Given the description of an element on the screen output the (x, y) to click on. 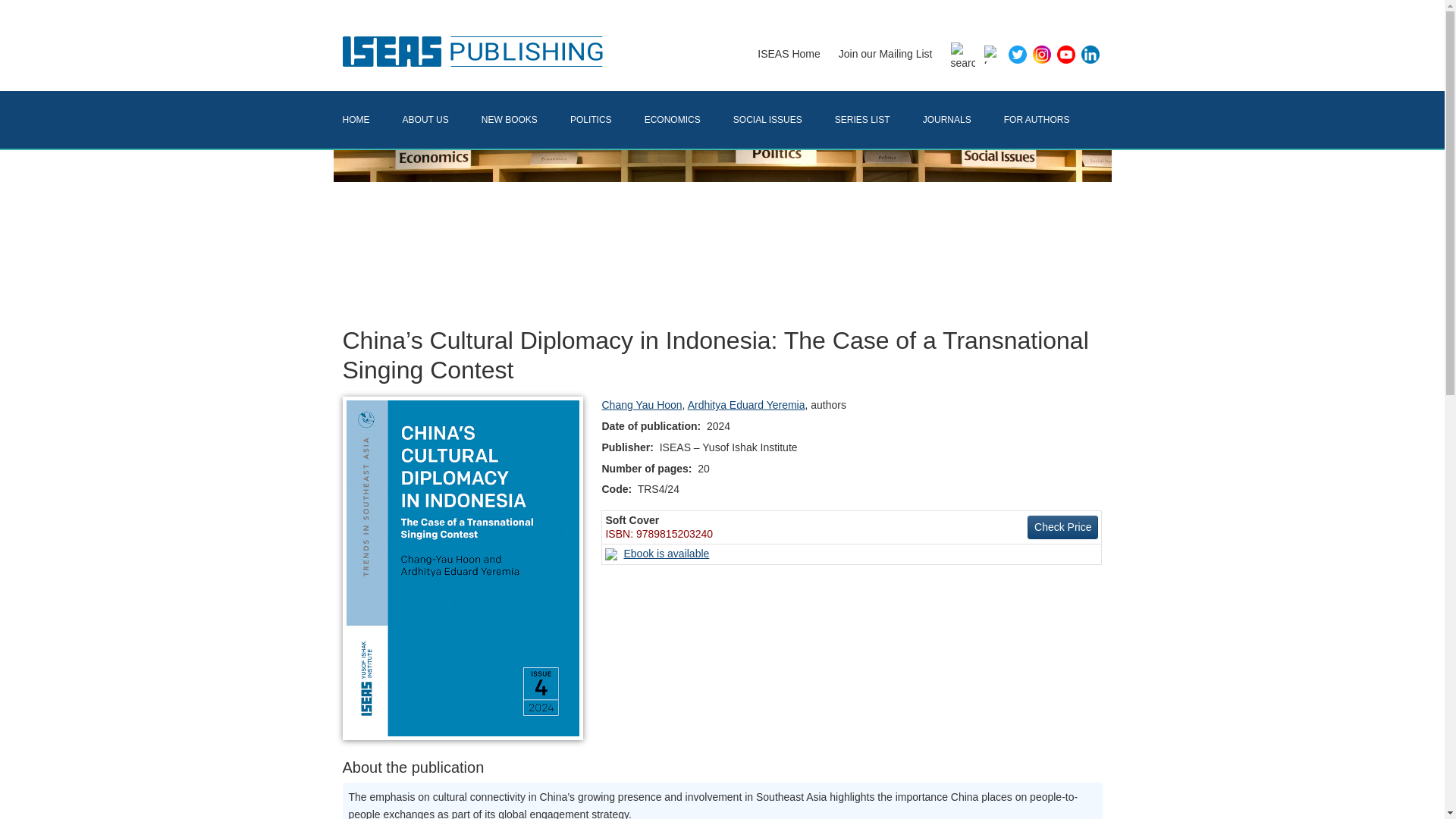
ECONOMICS (689, 119)
JOURNALS (963, 119)
Check Price (1062, 526)
SOCIAL ISSUES (783, 119)
Ardhitya Eduard Yeremia (746, 404)
POLITICS (607, 119)
NEW BOOKS (525, 119)
HOME (372, 119)
SERIES LIST (878, 119)
Chang Yau Hoon (641, 404)
